Given the description of an element on the screen output the (x, y) to click on. 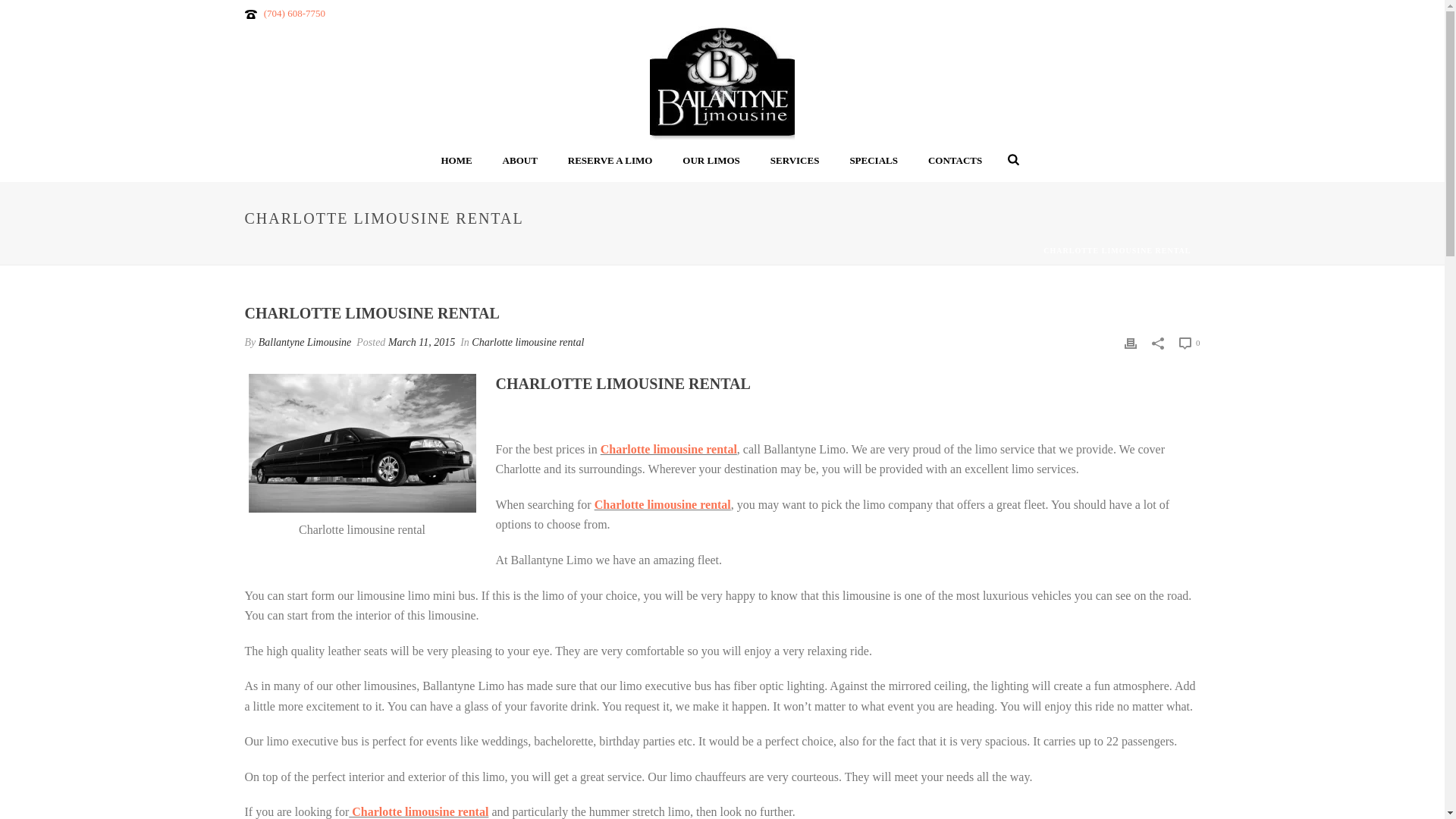
CONTACTS (954, 160)
CONTACTS (954, 160)
OUR LIMOS (710, 160)
RESERVE A LIMO (610, 160)
Ballantyne Limousine (721, 83)
SPECIALS (873, 160)
Posts by Ballantyne Limousine (305, 342)
SPECIALS (873, 160)
RESERVE A LIMO (610, 160)
HOME (455, 160)
SERVICES (794, 160)
ABOUT (520, 160)
OUR LIMOS (710, 160)
HOME (455, 160)
SERVICES (794, 160)
